Given the description of an element on the screen output the (x, y) to click on. 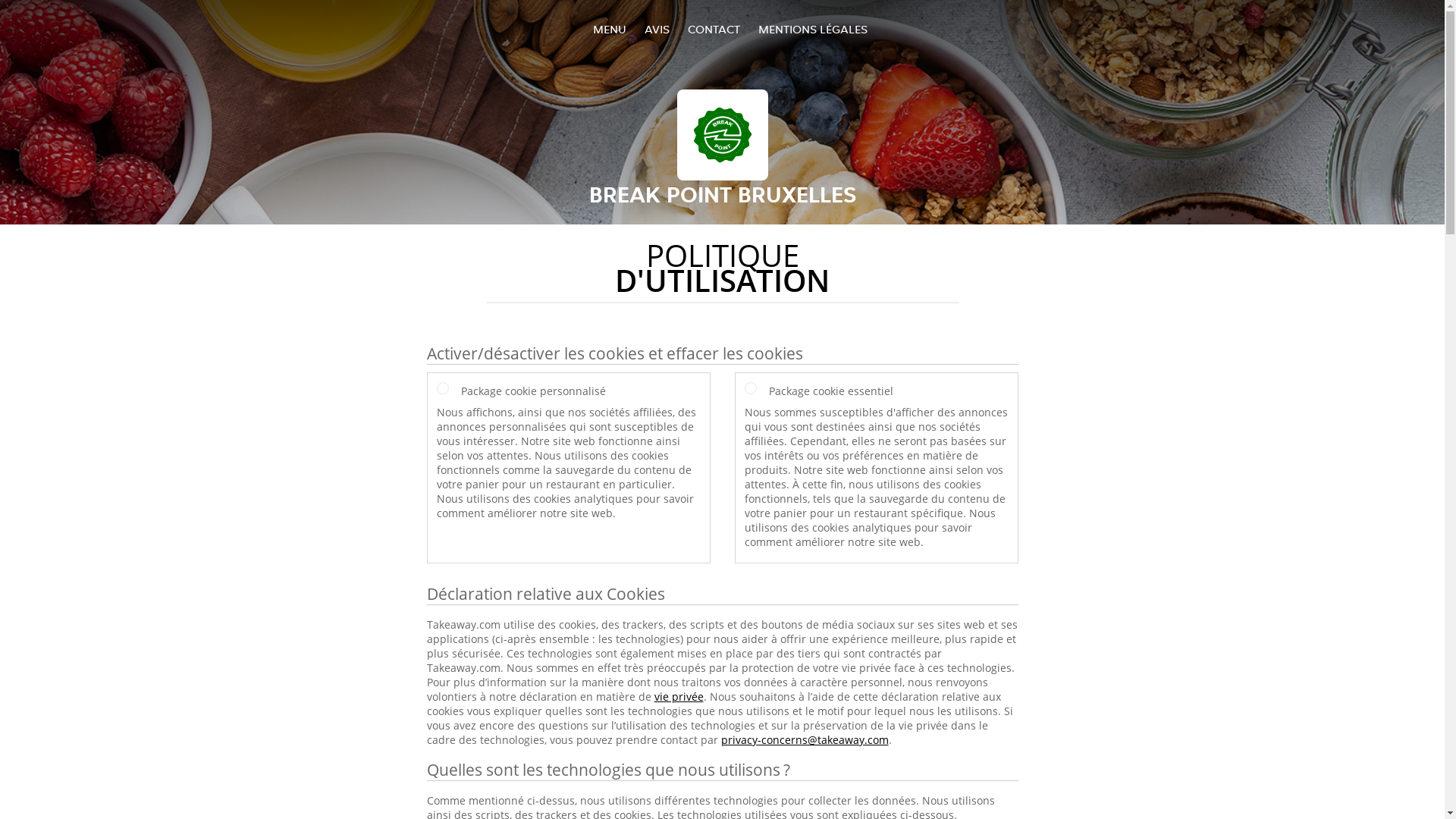
AVIS Element type: text (656, 29)
privacy-concerns@takeaway.com Element type: text (804, 739)
MENU Element type: text (609, 29)
CONTACT Element type: text (713, 29)
